Given the description of an element on the screen output the (x, y) to click on. 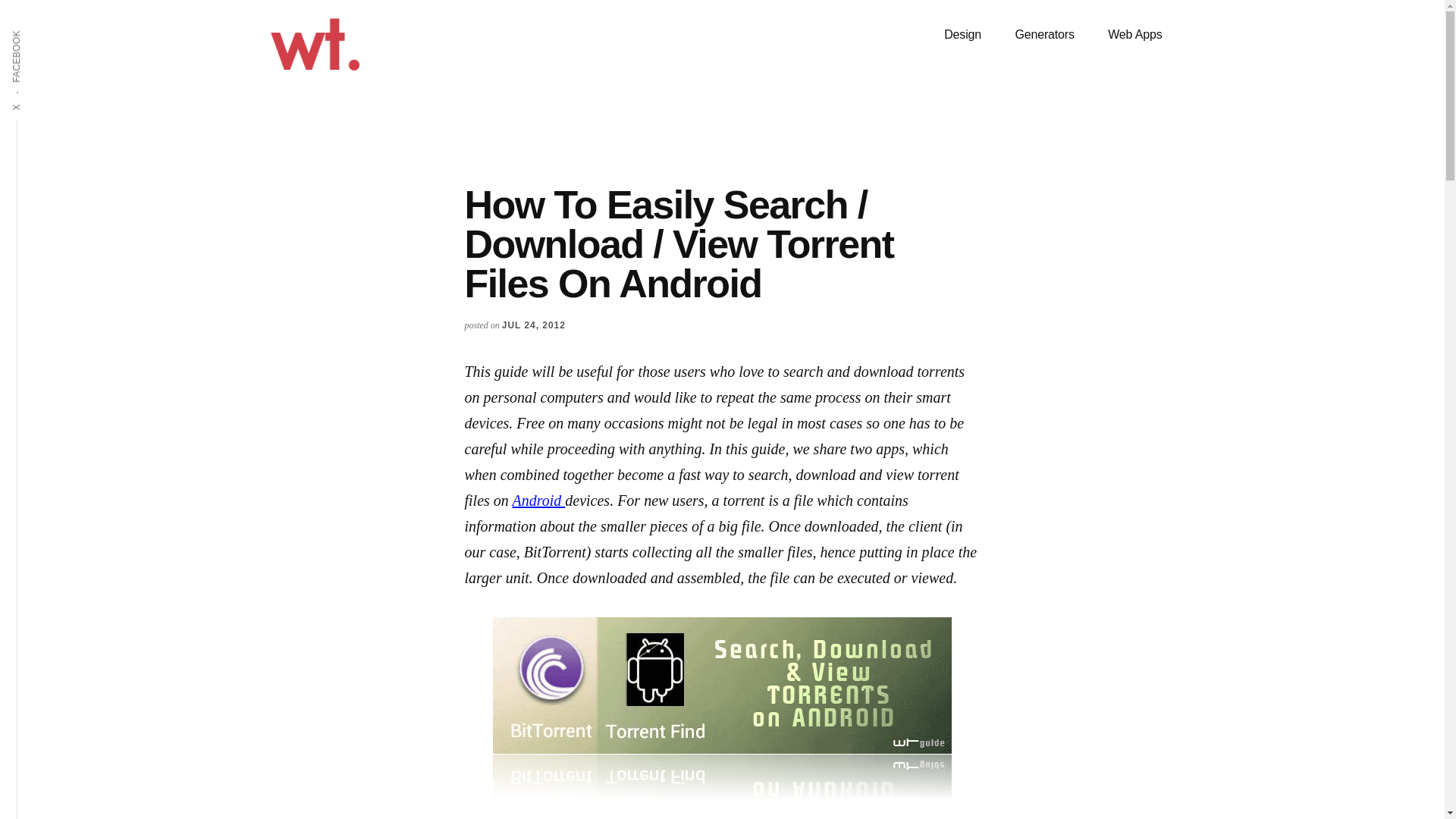
X (20, 102)
TORRENT-ANDROID (722, 708)
Generators (1043, 34)
Web Apps (1134, 34)
FACEBOOK (44, 28)
Android (538, 500)
Design (961, 34)
